Given the description of an element on the screen output the (x, y) to click on. 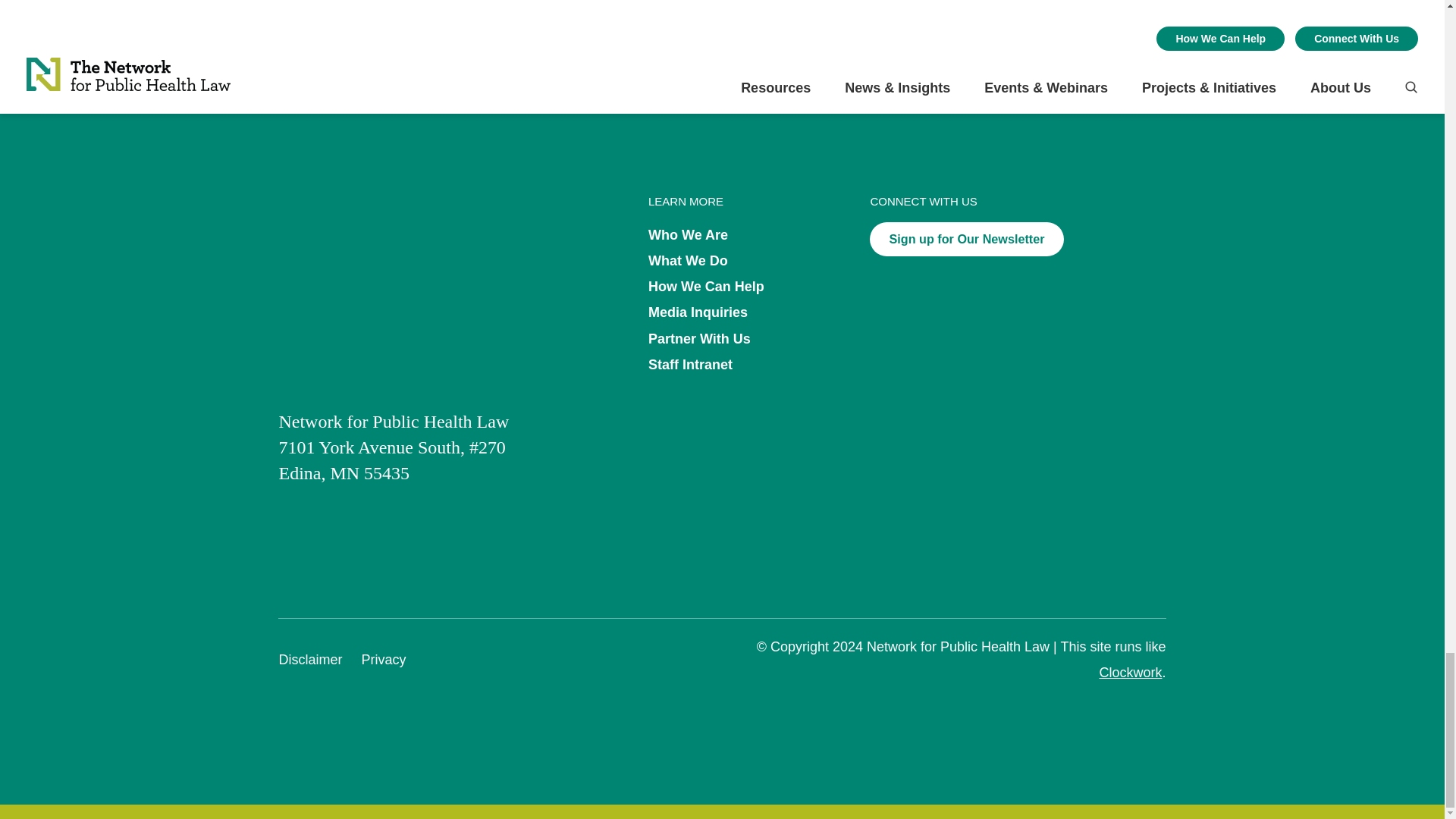
Twitter (476, 4)
Facebook (445, 4)
Email (506, 4)
